Given the description of an element on the screen output the (x, y) to click on. 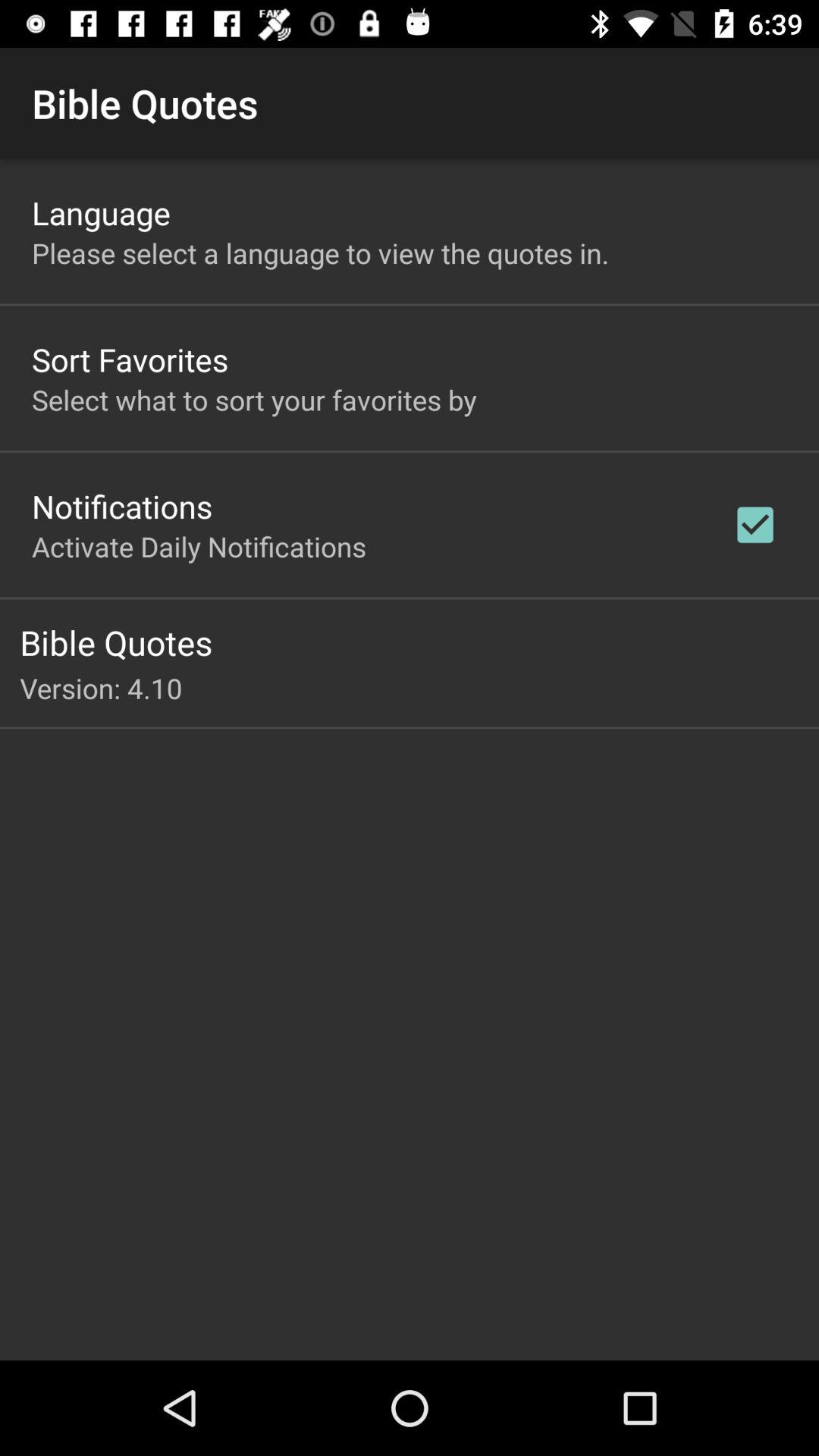
flip to the please select a icon (320, 252)
